Given the description of an element on the screen output the (x, y) to click on. 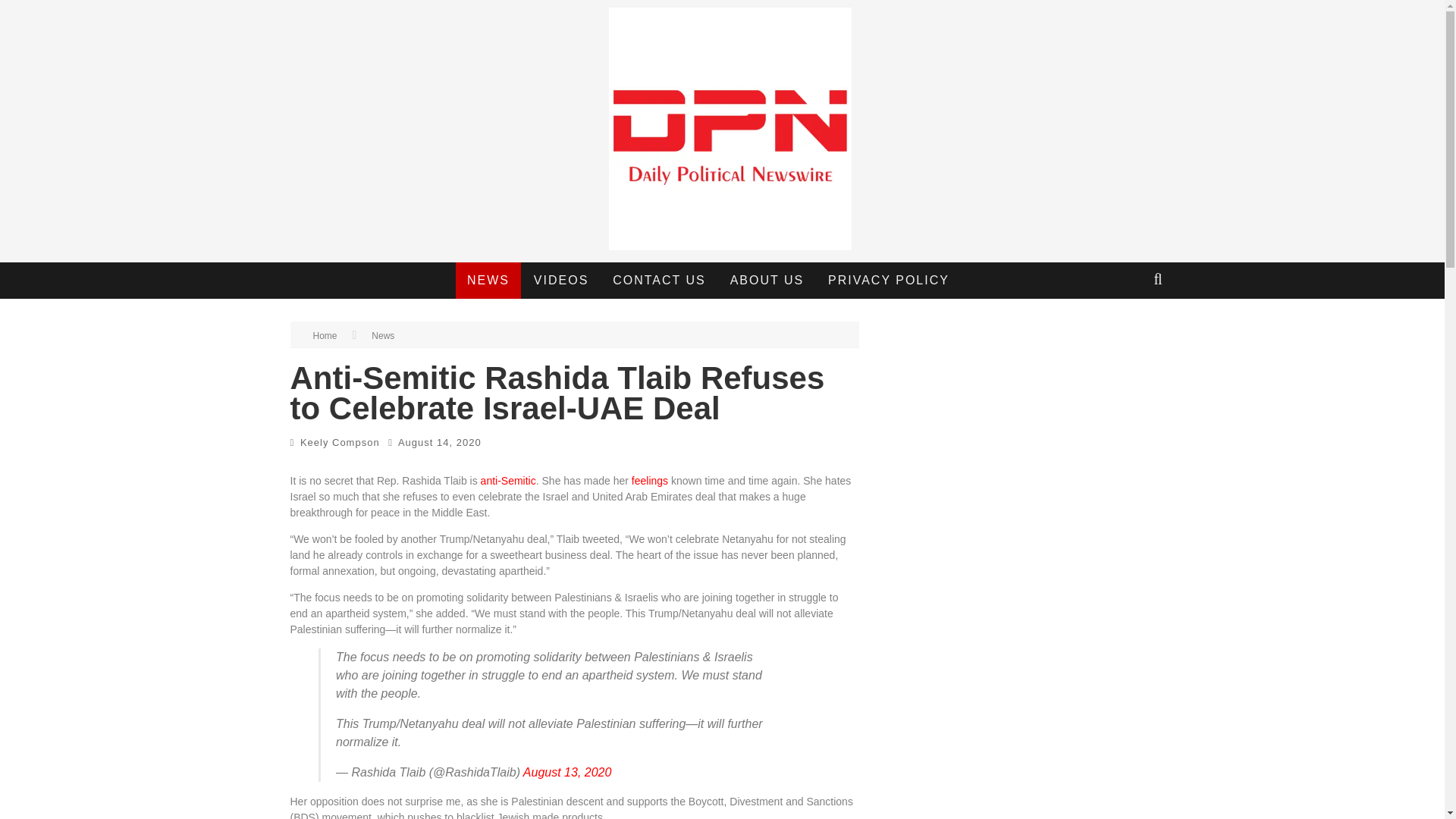
Home (324, 335)
View all posts in News (382, 335)
ABOUT US (767, 280)
News (382, 335)
VIDEOS (560, 280)
PRIVACY POLICY (888, 280)
CONTACT US (659, 280)
NEWS (488, 280)
